Given the description of an element on the screen output the (x, y) to click on. 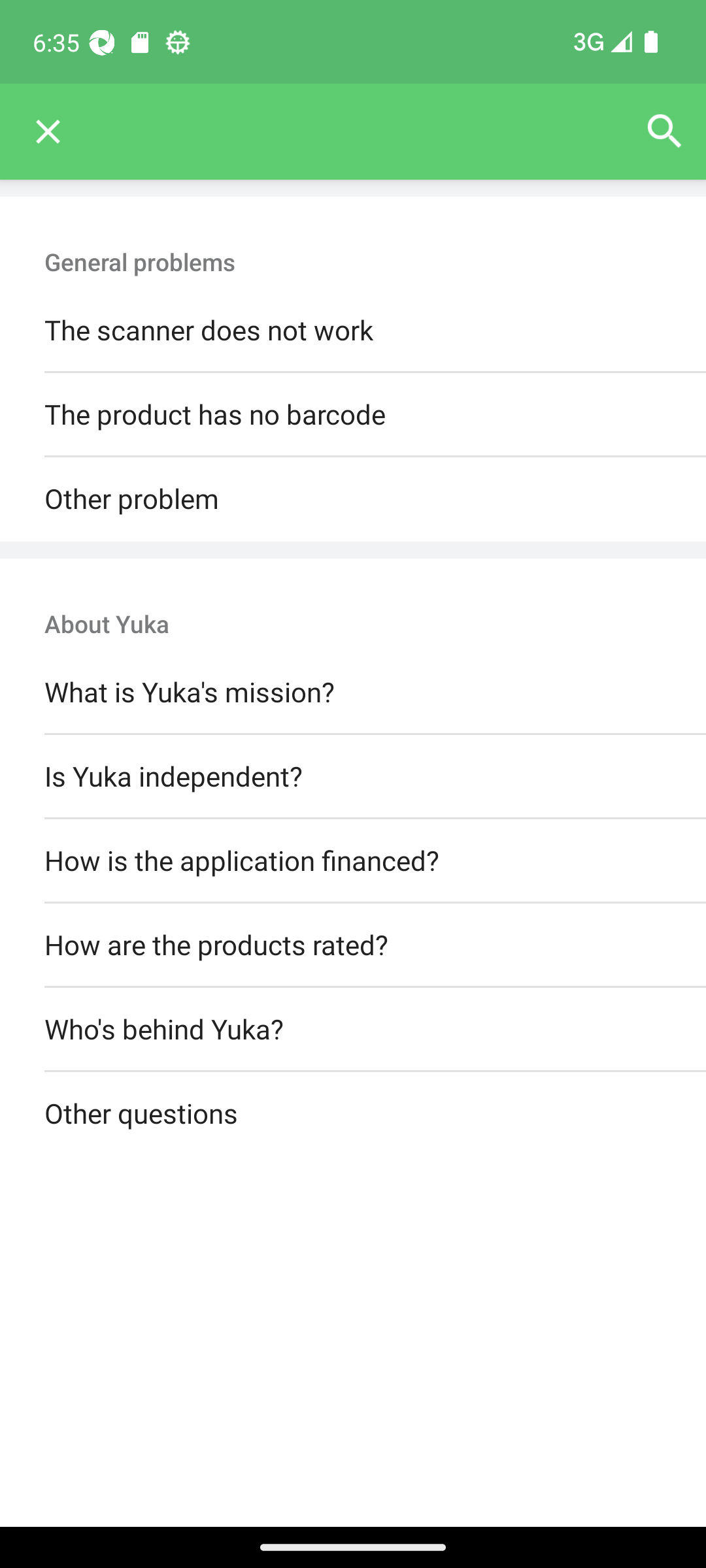
Search (664, 131)
The scanner does not work (353, 330)
The product has no barcode (353, 415)
Other problem (353, 498)
What is Yuka's mission? (353, 692)
Is Yuka independent? (353, 776)
How is the application financed? (353, 860)
How are the products rated? (353, 945)
Who's behind Yuka? (353, 1029)
Other questions (353, 1114)
